Given the description of an element on the screen output the (x, y) to click on. 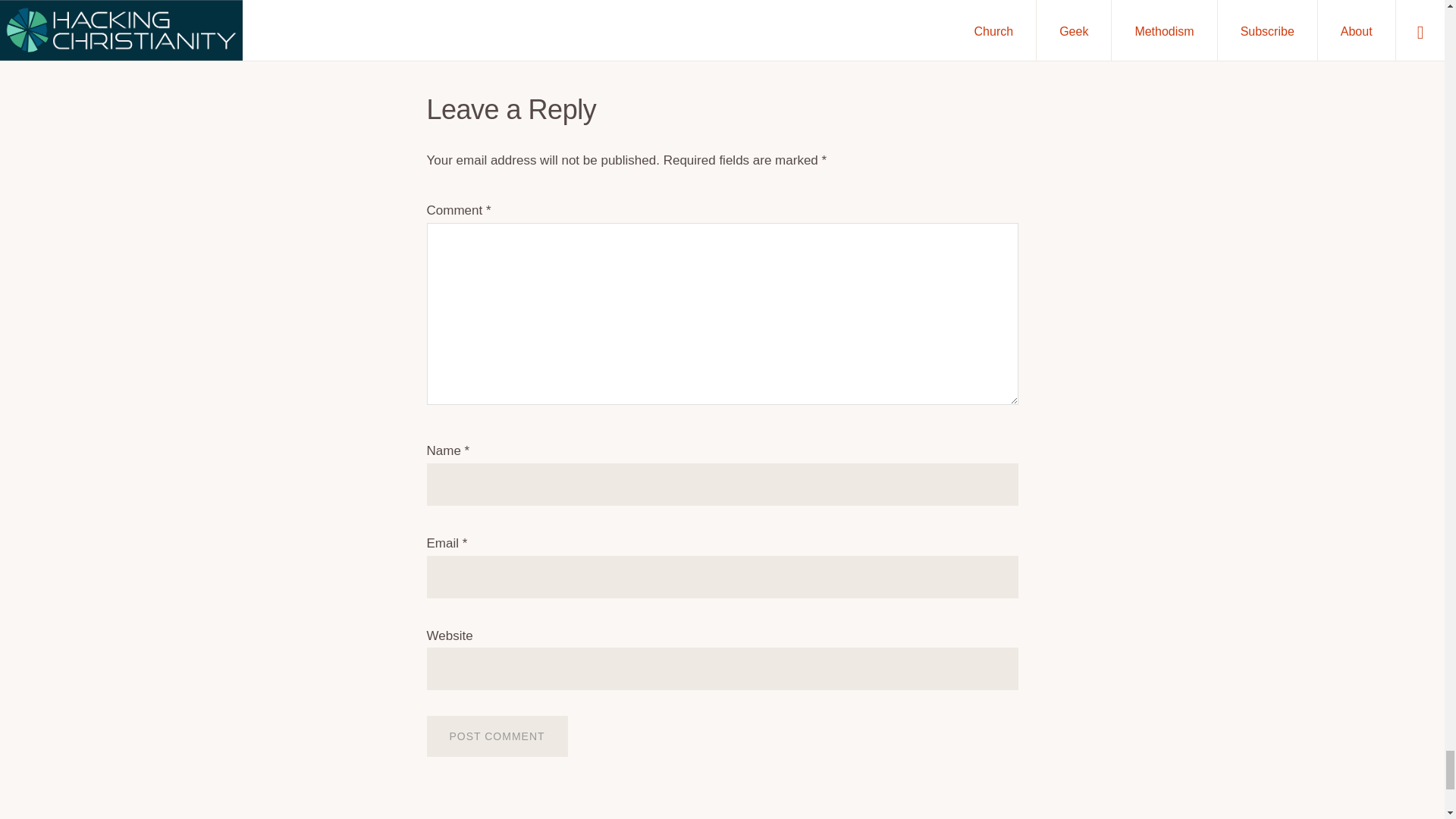
Post Comment (496, 735)
